Given the description of an element on the screen output the (x, y) to click on. 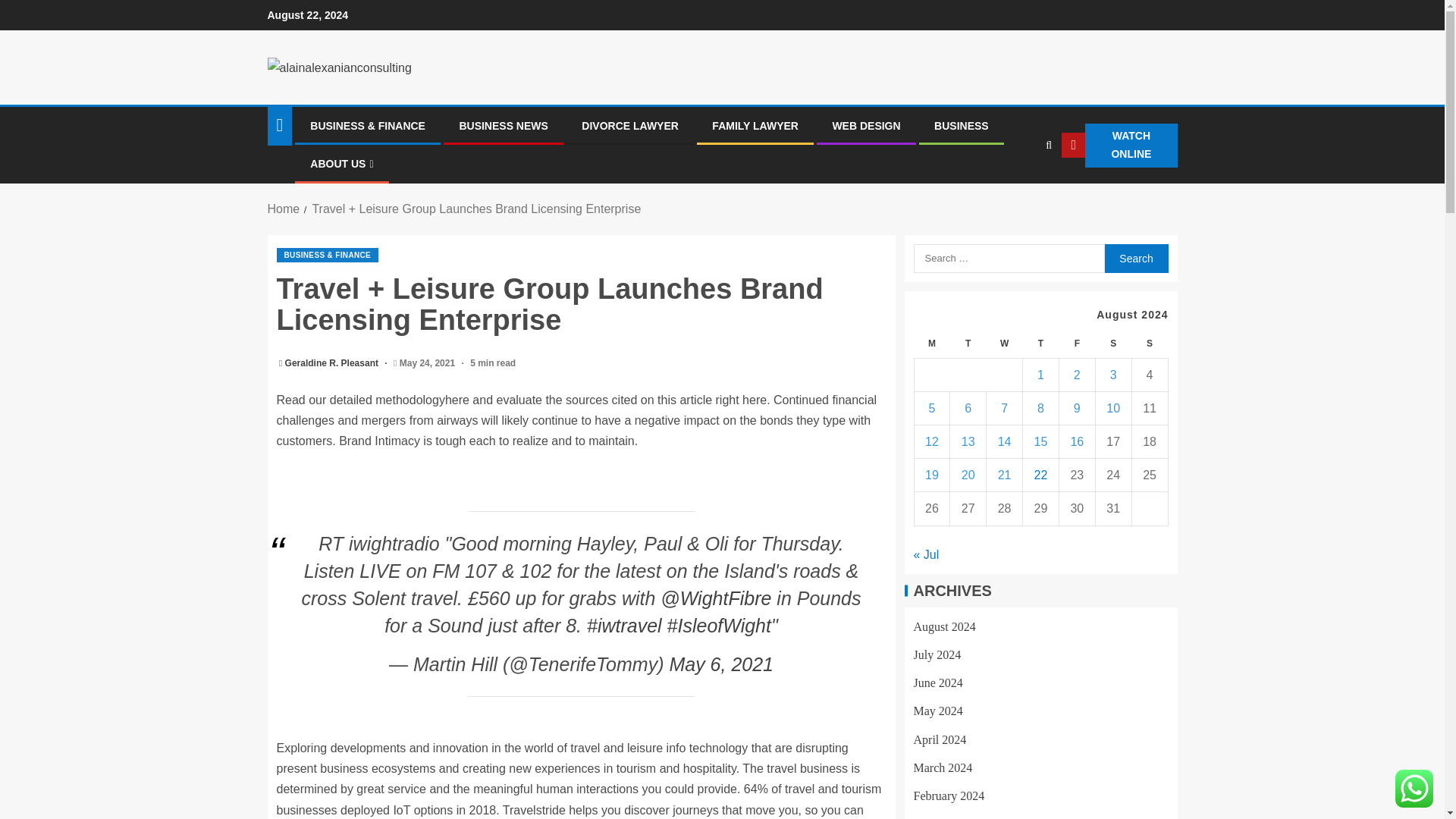
Saturday (1112, 343)
WATCH ONLINE (1118, 145)
Sunday (1149, 343)
Geraldine R. Pleasant (333, 362)
BUSINESS NEWS (502, 125)
Friday (1076, 343)
FAMILY LAWYER (754, 125)
Home (282, 208)
BUSINESS (961, 125)
May 6, 2021 (720, 663)
